Given the description of an element on the screen output the (x, y) to click on. 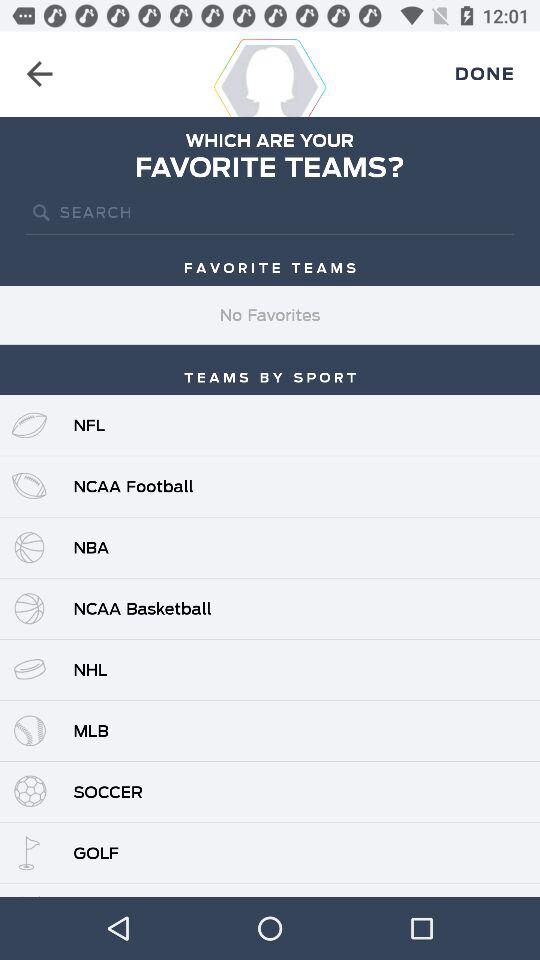
open item at the top right corner (484, 73)
